Given the description of an element on the screen output the (x, y) to click on. 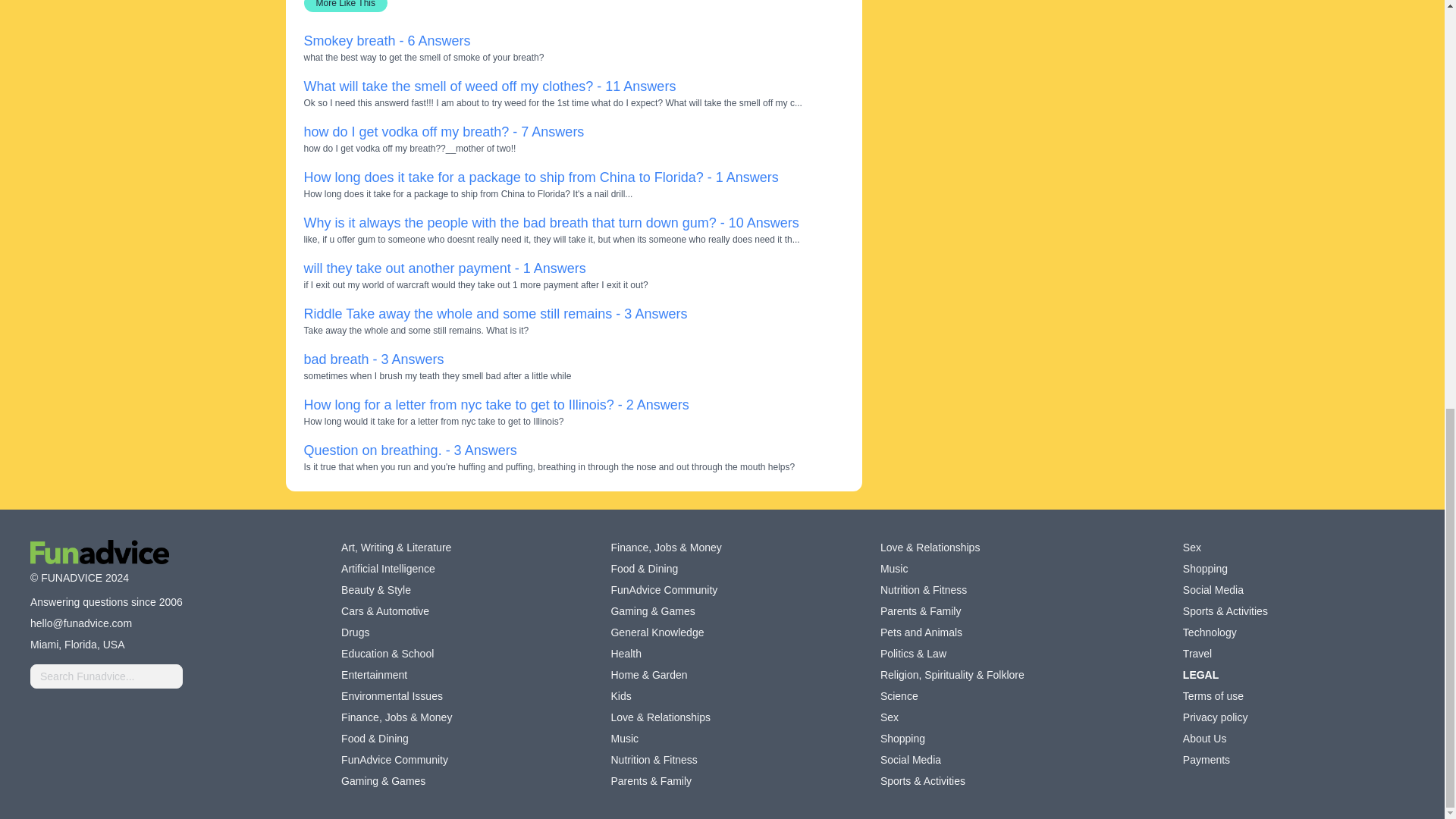
will they take out another payment - 1 Answers (443, 268)
Question on breathing. - 3 Answers (409, 450)
Smokey breath - 6 Answers (386, 40)
Artificial Intelligence (387, 568)
bad breath - 3 Answers (373, 359)
how do I get vodka off my breath? - 7 Answers (442, 131)
